Given the description of an element on the screen output the (x, y) to click on. 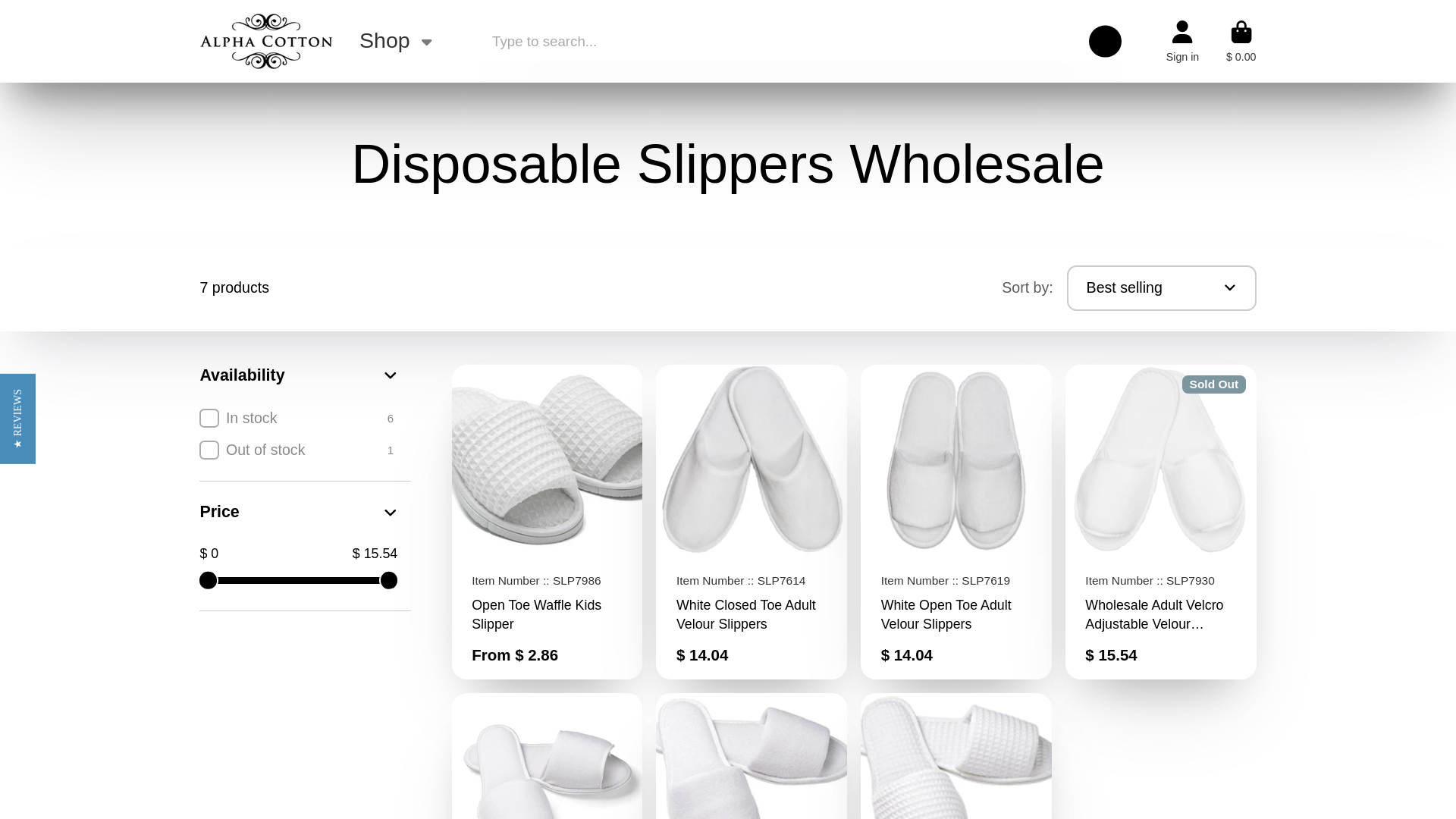
Logo (265, 41)
15.54 (307, 580)
0 (288, 580)
Shop (396, 41)
